Given the description of an element on the screen output the (x, y) to click on. 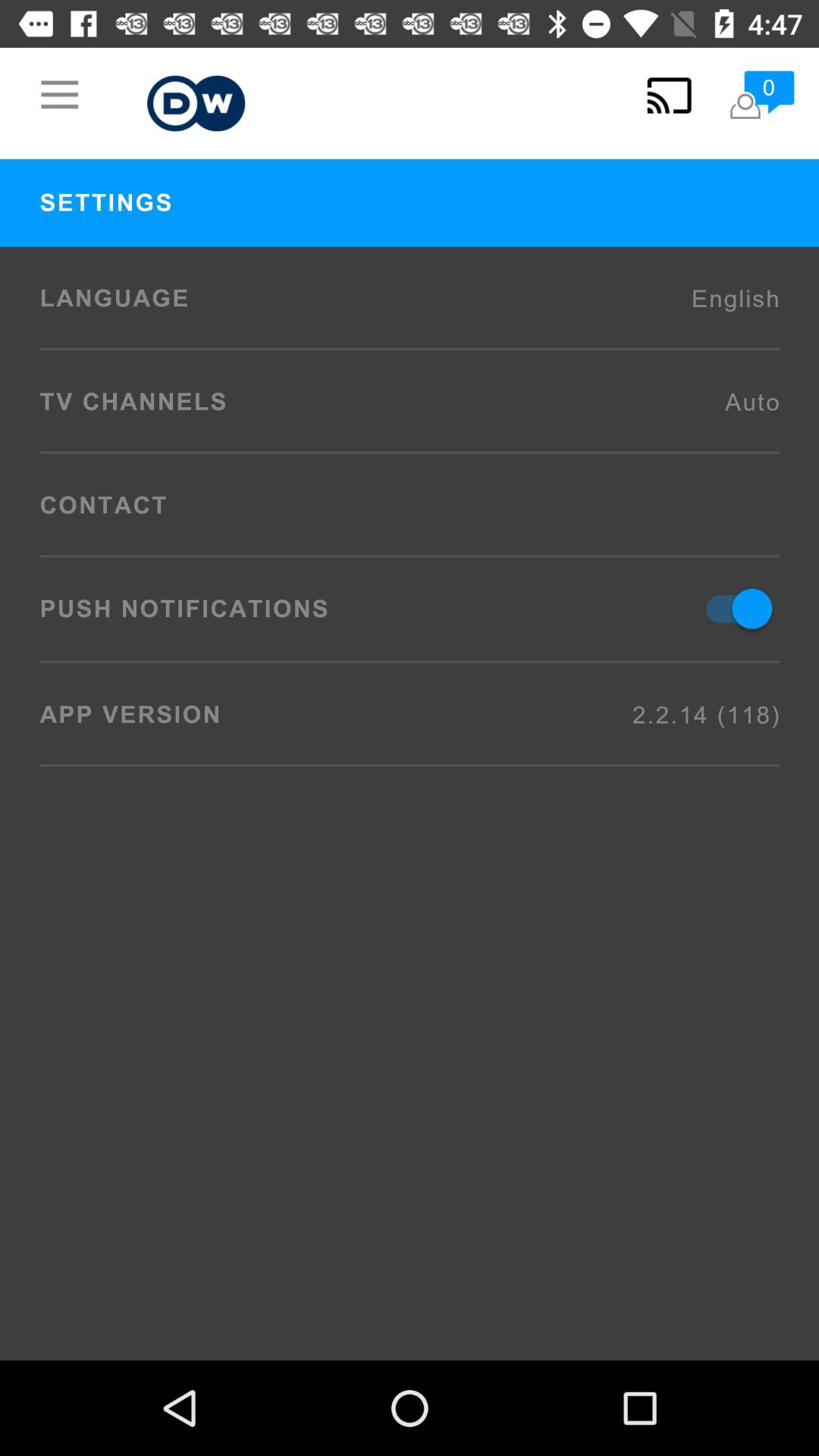
open the icon on the right (731, 608)
